Given the description of an element on the screen output the (x, y) to click on. 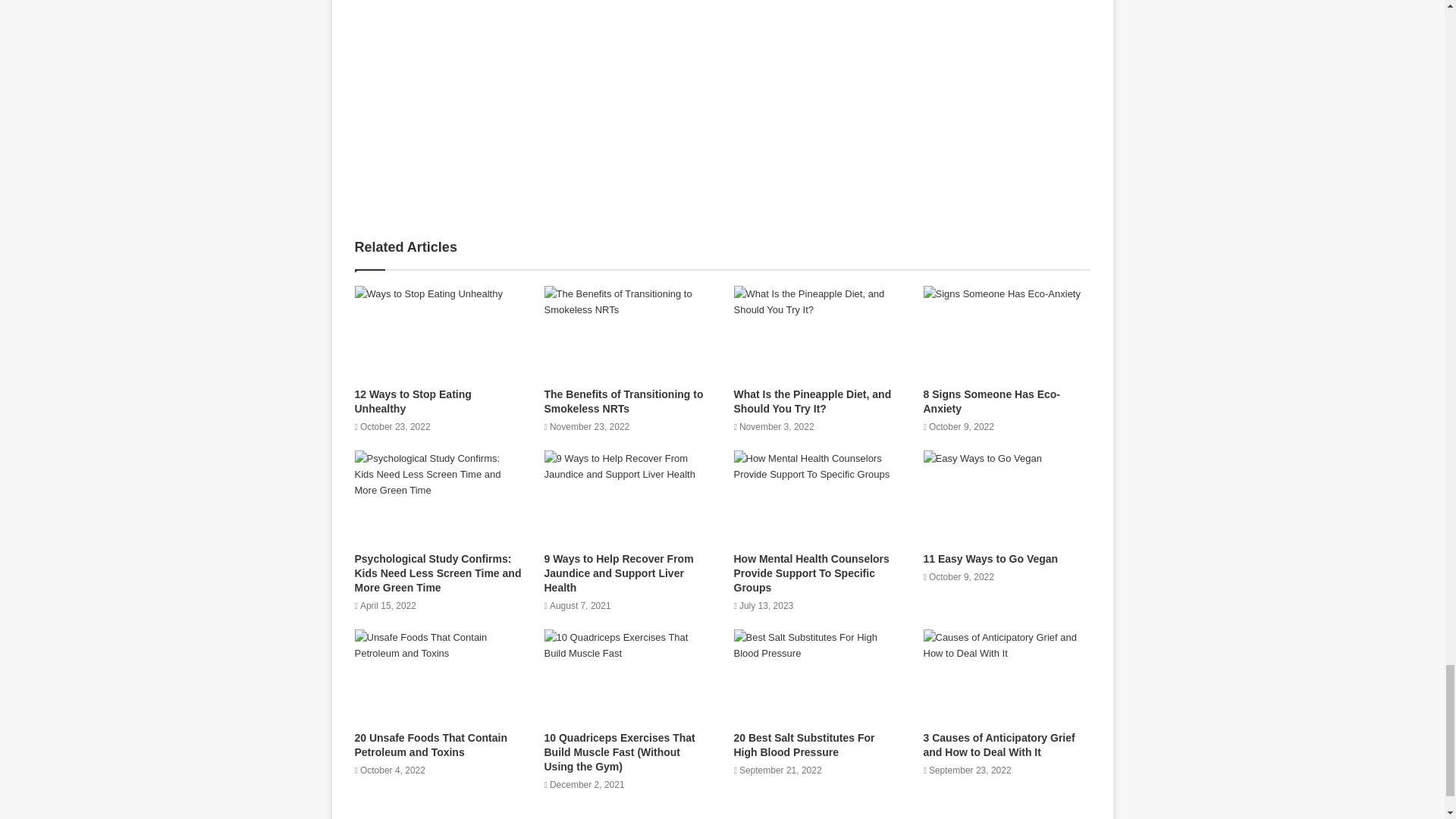
11 Easy Ways to Go Vegan (990, 558)
8 Signs Someone Has Eco-Anxiety (992, 401)
The Benefits of Transitioning to Smokeless NRTs (623, 401)
12 Ways to Stop Eating Unhealthy (413, 401)
What Is the Pineapple Diet, and Should You Try It? (812, 401)
20 Unsafe Foods That Contain Petroleum and Toxins (430, 745)
20 Best Salt Substitutes For High Blood Pressure (804, 745)
